Given the description of an element on the screen output the (x, y) to click on. 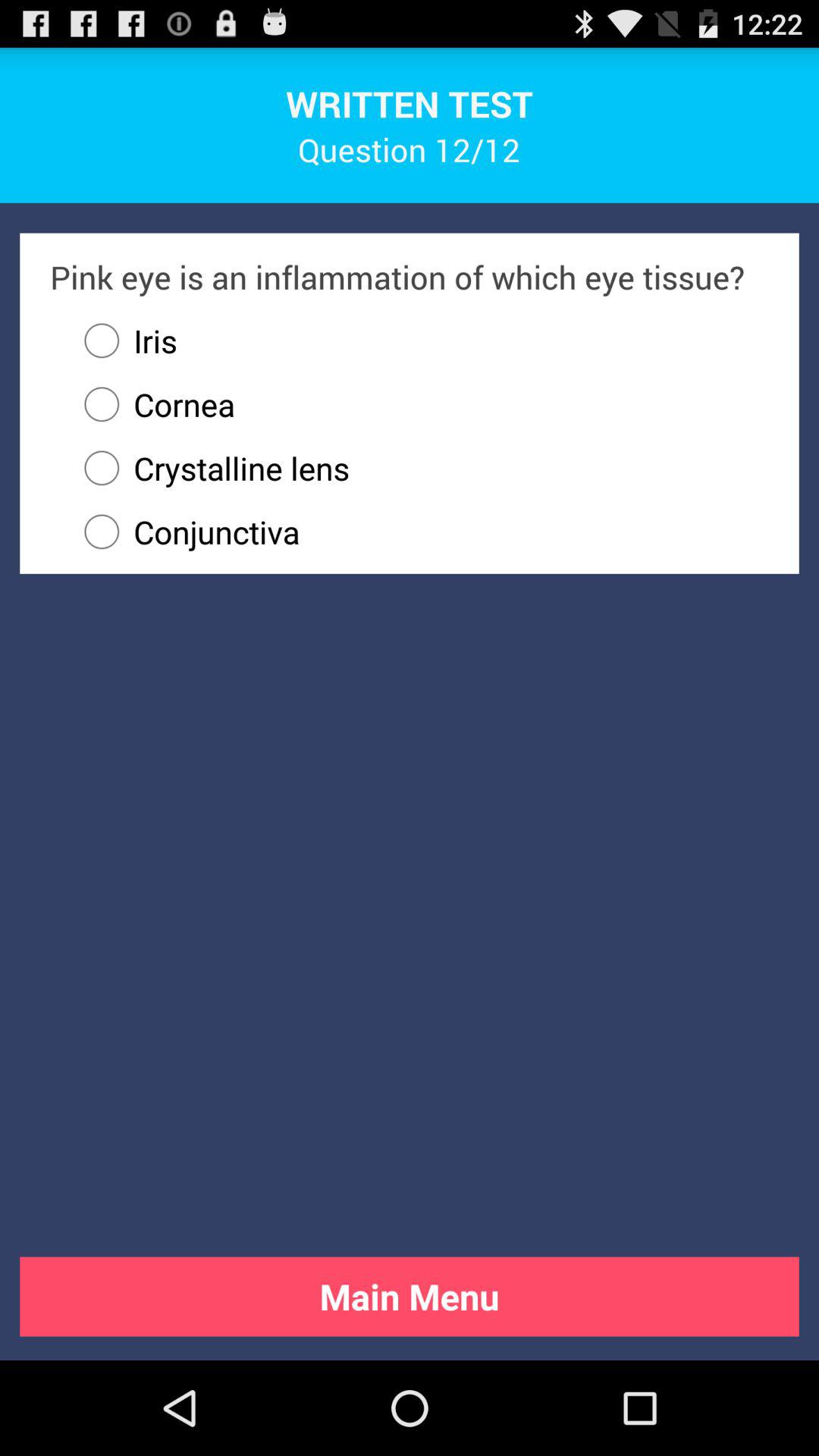
press the item above the conjunctiva radio button (418, 467)
